Given the description of an element on the screen output the (x, y) to click on. 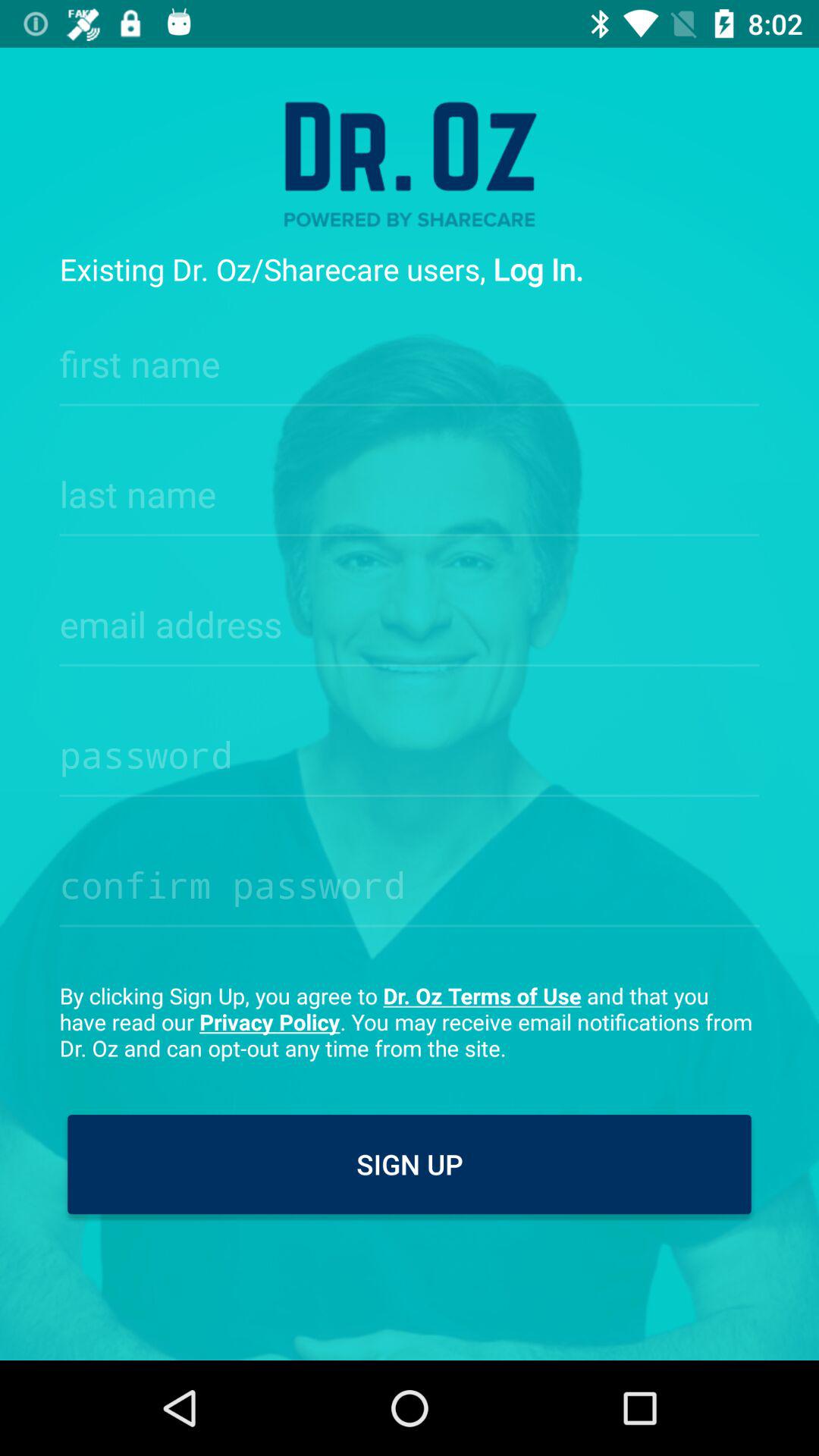
confirm password (409, 880)
